Given the description of an element on the screen output the (x, y) to click on. 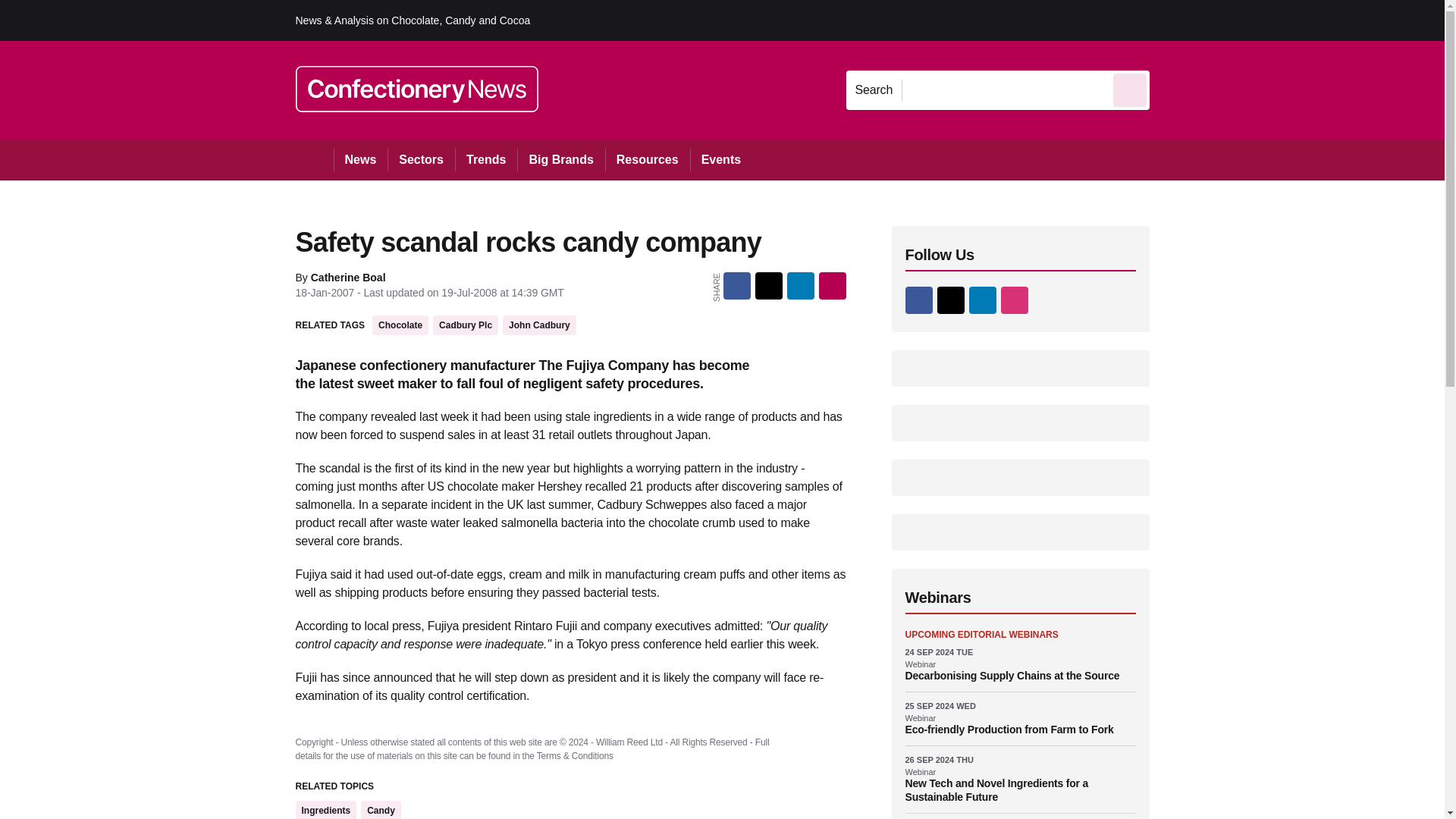
REGISTER (1250, 20)
Sign in (1171, 20)
Trends (485, 159)
Home (314, 159)
Send (1129, 89)
Home (313, 159)
Sign out (1174, 20)
Send (1129, 90)
ConfectioneryNews (416, 89)
My account (1256, 20)
